Given the description of an element on the screen output the (x, y) to click on. 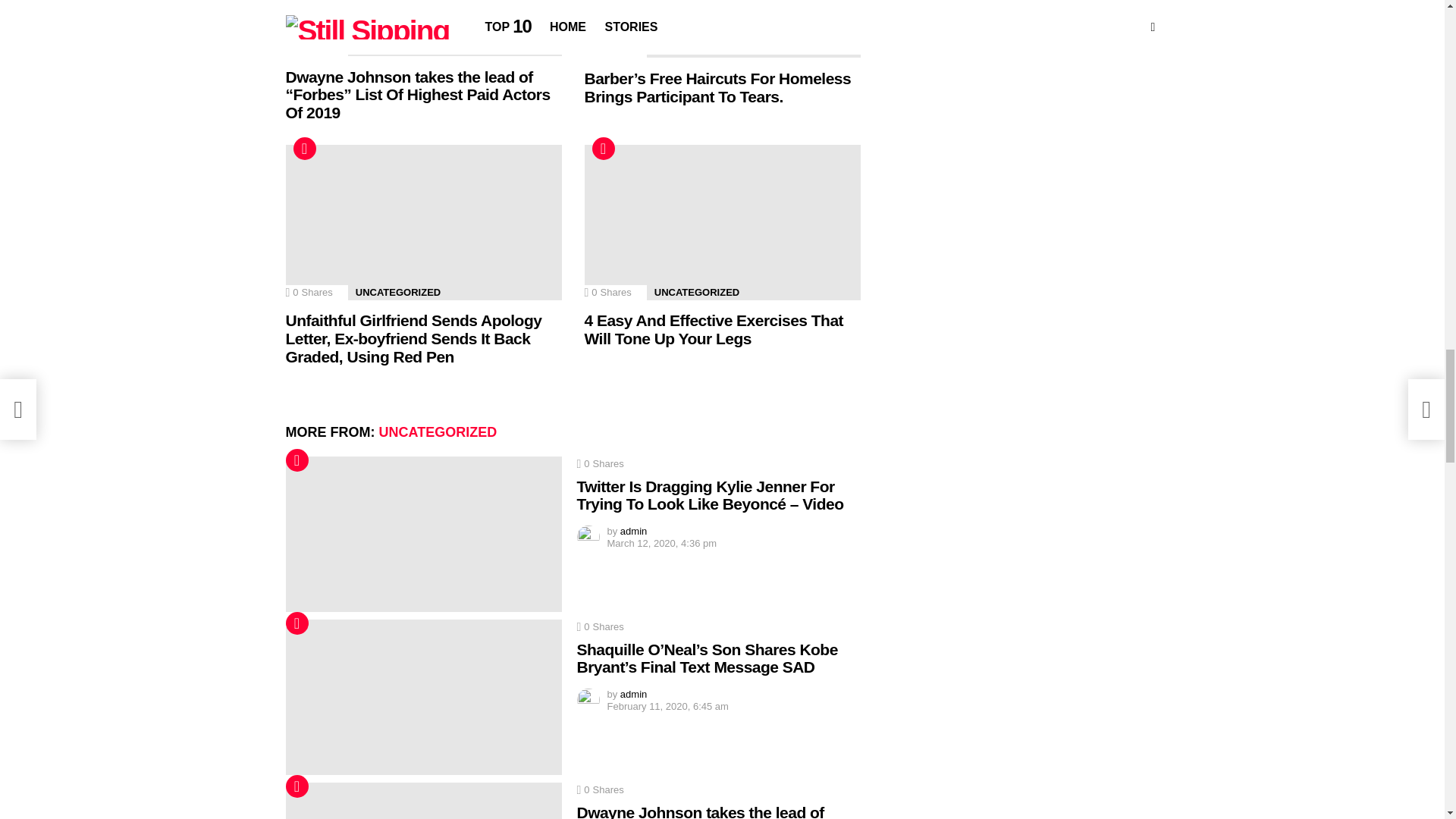
UNCATEGORIZED (397, 48)
Hot (303, 148)
UNCATEGORIZED (696, 49)
